Given the description of an element on the screen output the (x, y) to click on. 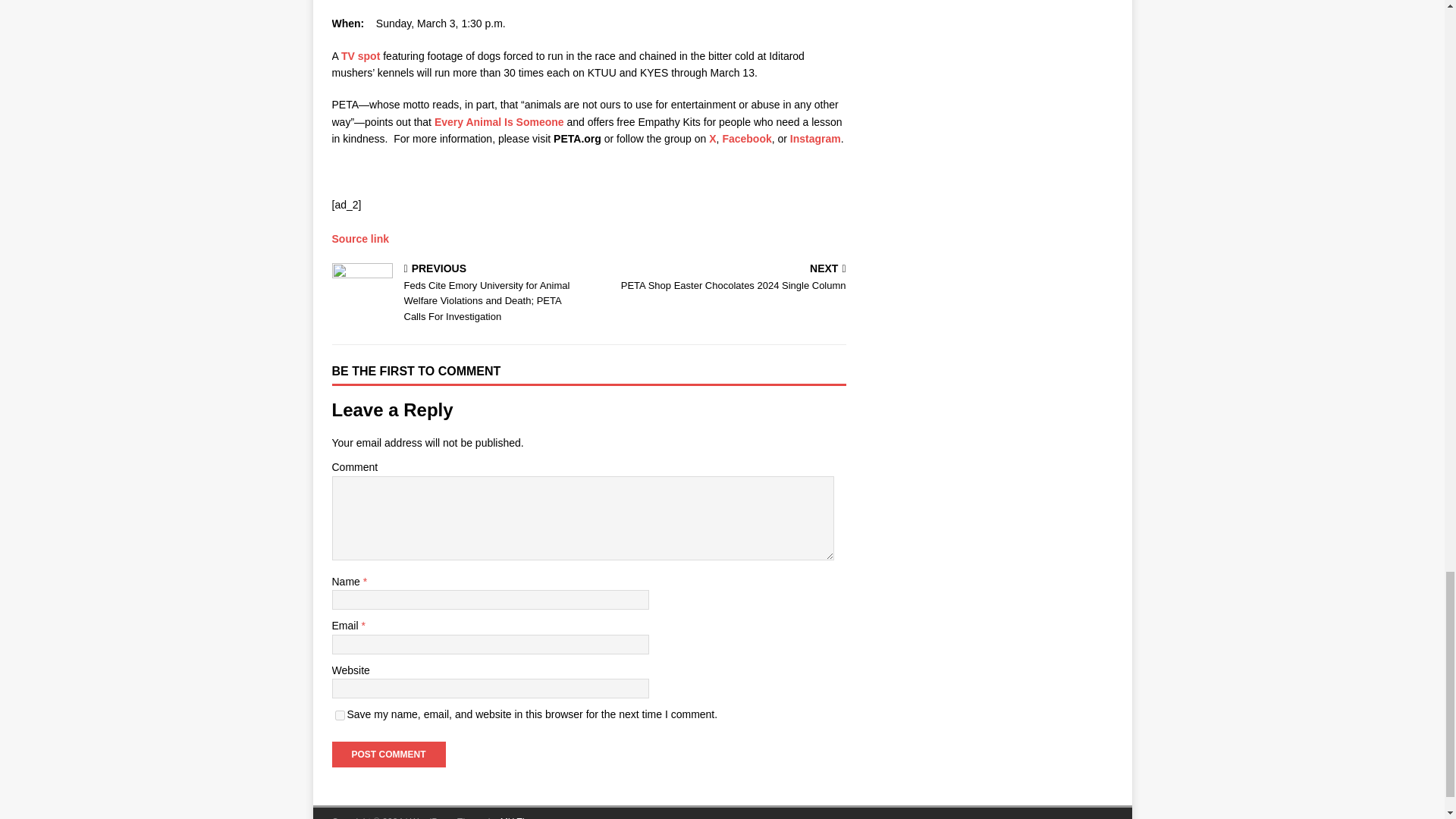
Facebook (746, 138)
Every Animal Is Someone (498, 121)
TV spot (720, 278)
Instagram (360, 55)
Post Comment (815, 138)
Post Comment (388, 754)
yes (388, 754)
Source link (339, 715)
